Given the description of an element on the screen output the (x, y) to click on. 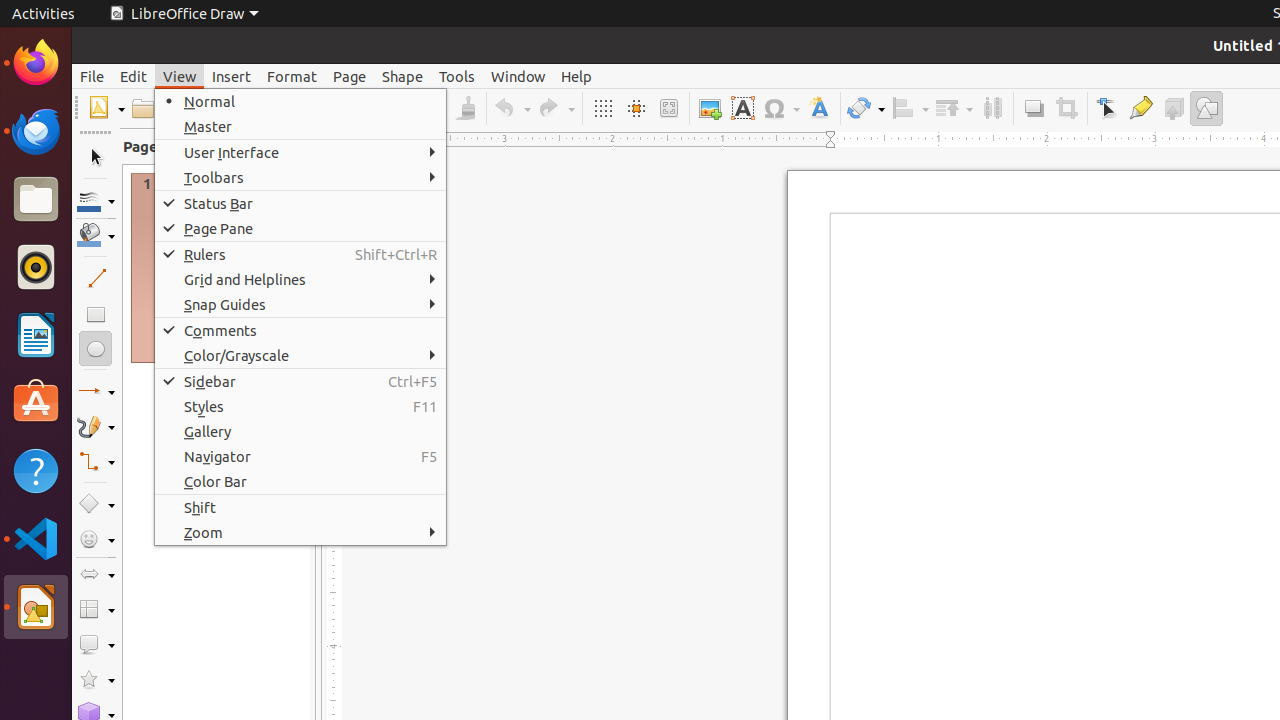
Grid and Helplines Element type: menu (300, 279)
Files Element type: push-button (36, 199)
Ubuntu Software Element type: push-button (36, 402)
Symbol Element type: push-button (781, 108)
